Given the description of an element on the screen output the (x, y) to click on. 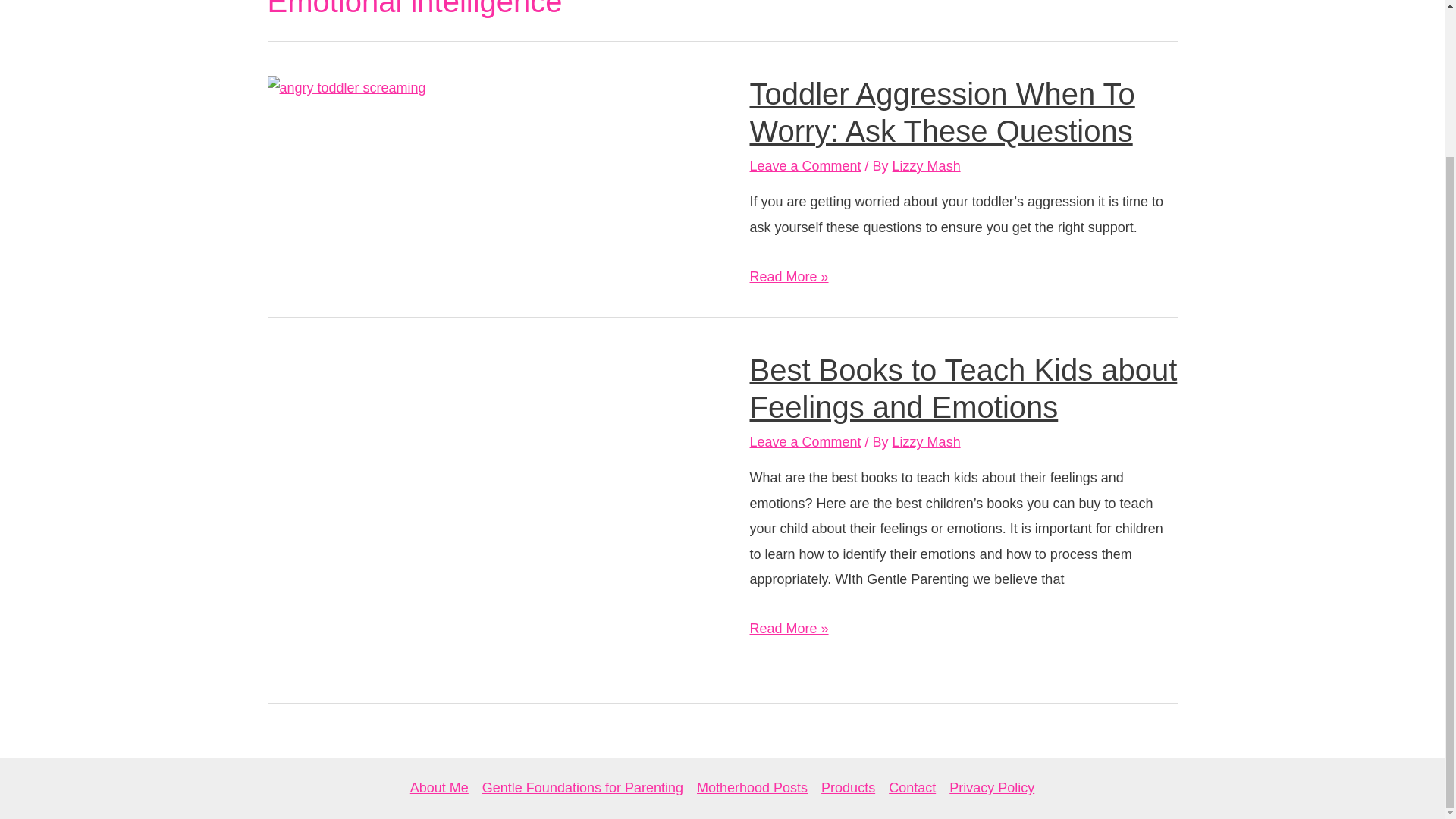
Leave a Comment (804, 165)
View all posts by Lizzy Mash (926, 441)
View all posts by Lizzy Mash (926, 165)
Privacy Policy (987, 787)
Contact (912, 787)
Best Books to Teach Kids about Feelings and Emotions (962, 388)
About Me (443, 787)
Toddler Aggression When To Worry: Ask These Questions (941, 112)
Gentle Foundations for Parenting (583, 787)
Motherhood Posts (751, 787)
